Given the description of an element on the screen output the (x, y) to click on. 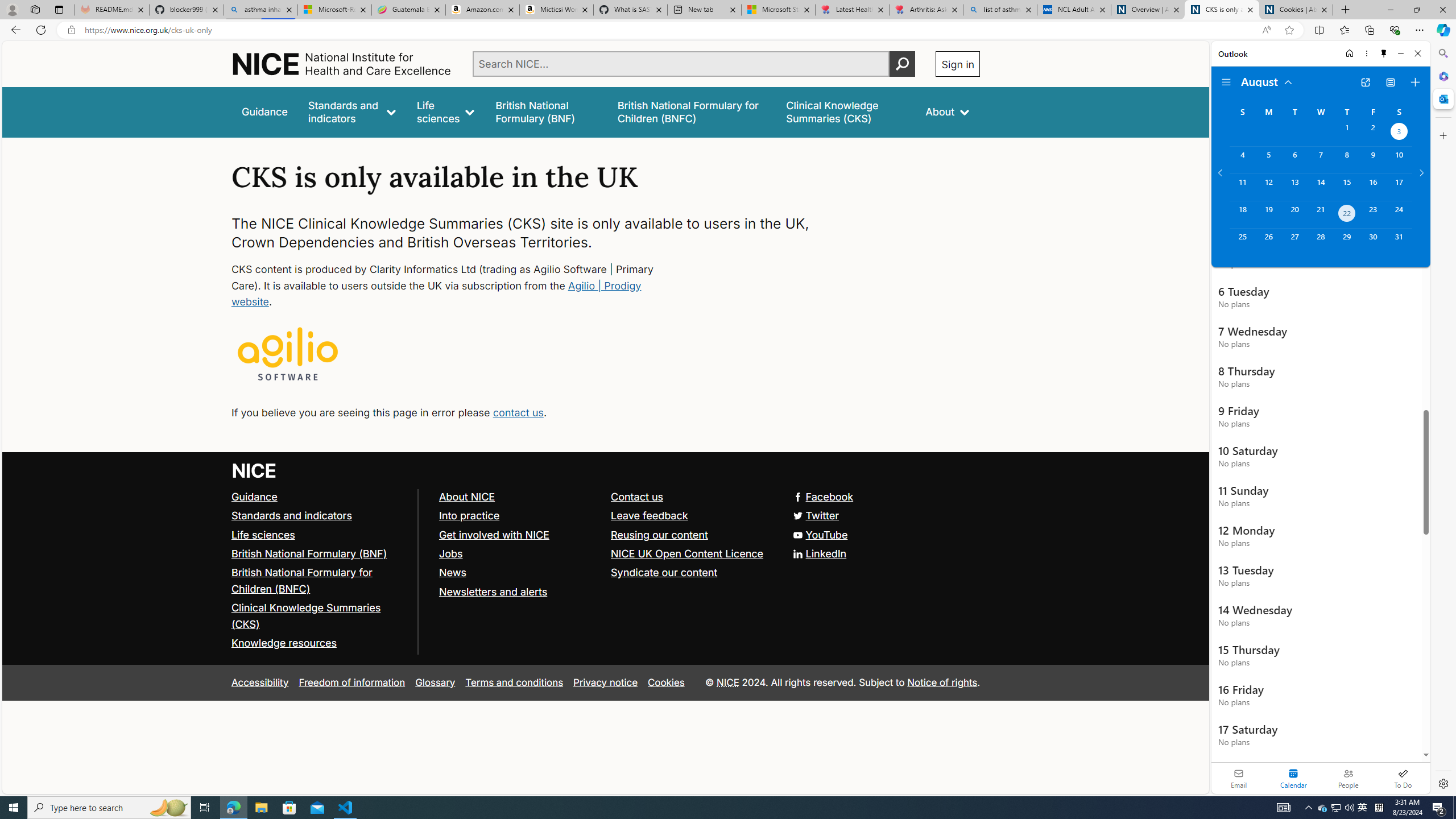
Go to NICE home page (253, 470)
Thursday, August 29, 2024.  (1346, 241)
Jobs (450, 553)
Freedom of information (352, 682)
Agilio | Prodigy website (436, 293)
Monday, August 12, 2024.  (1268, 186)
Twitter (816, 515)
Privacy notice (605, 682)
